Given the description of an element on the screen output the (x, y) to click on. 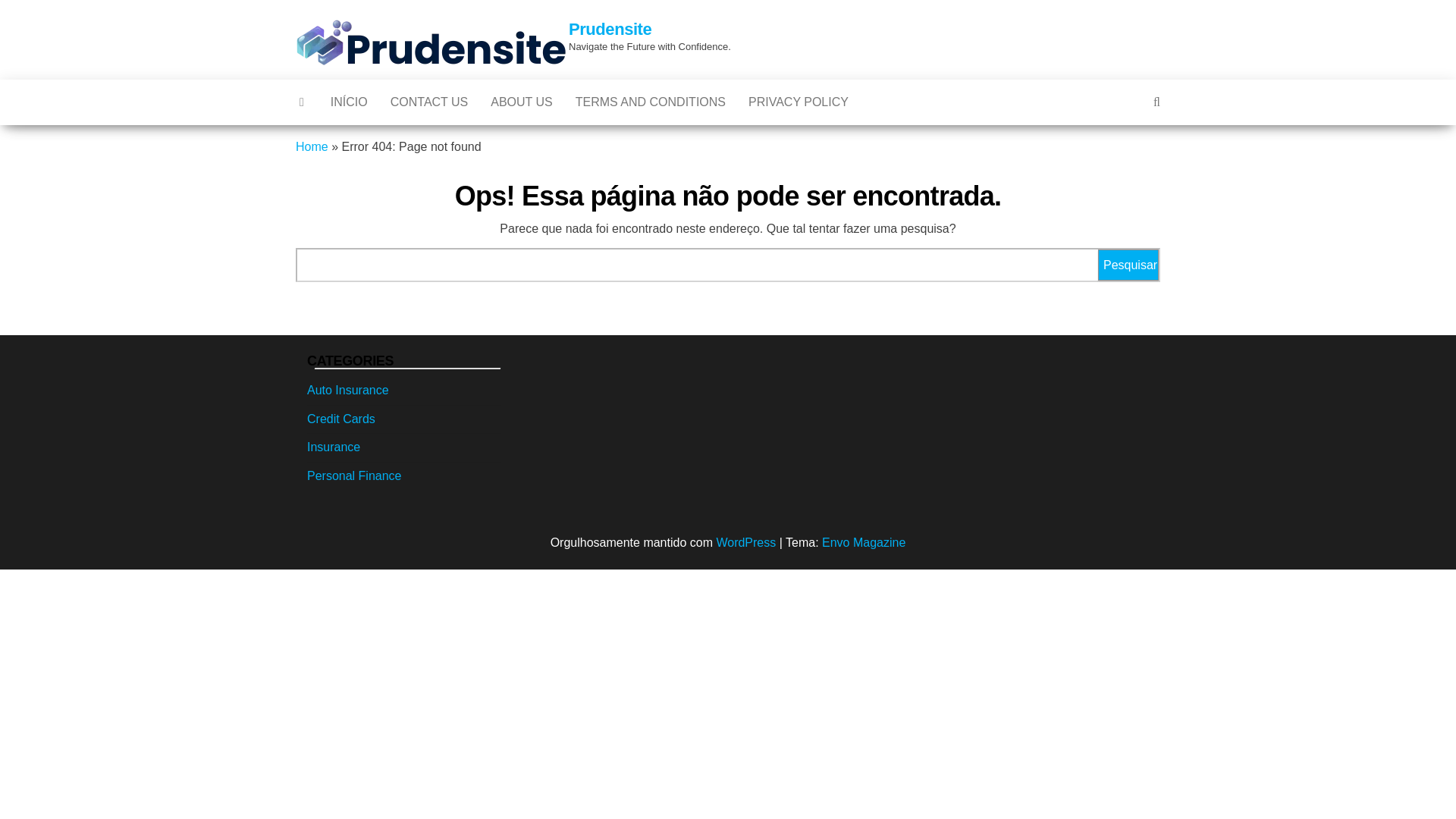
Privacy Policy (798, 102)
ABOUT US (521, 102)
Personal Finance (354, 475)
About Us (521, 102)
PRIVACY POLICY (798, 102)
Credit Cards (341, 418)
Insurance (333, 446)
Prudensite (609, 28)
Contact Us (429, 102)
Pesquisar (1127, 264)
Envo Magazine (863, 542)
WordPress (746, 542)
Auto Insurance (347, 390)
Pesquisar (1127, 264)
Terms and Conditions (650, 102)
